Given the description of an element on the screen output the (x, y) to click on. 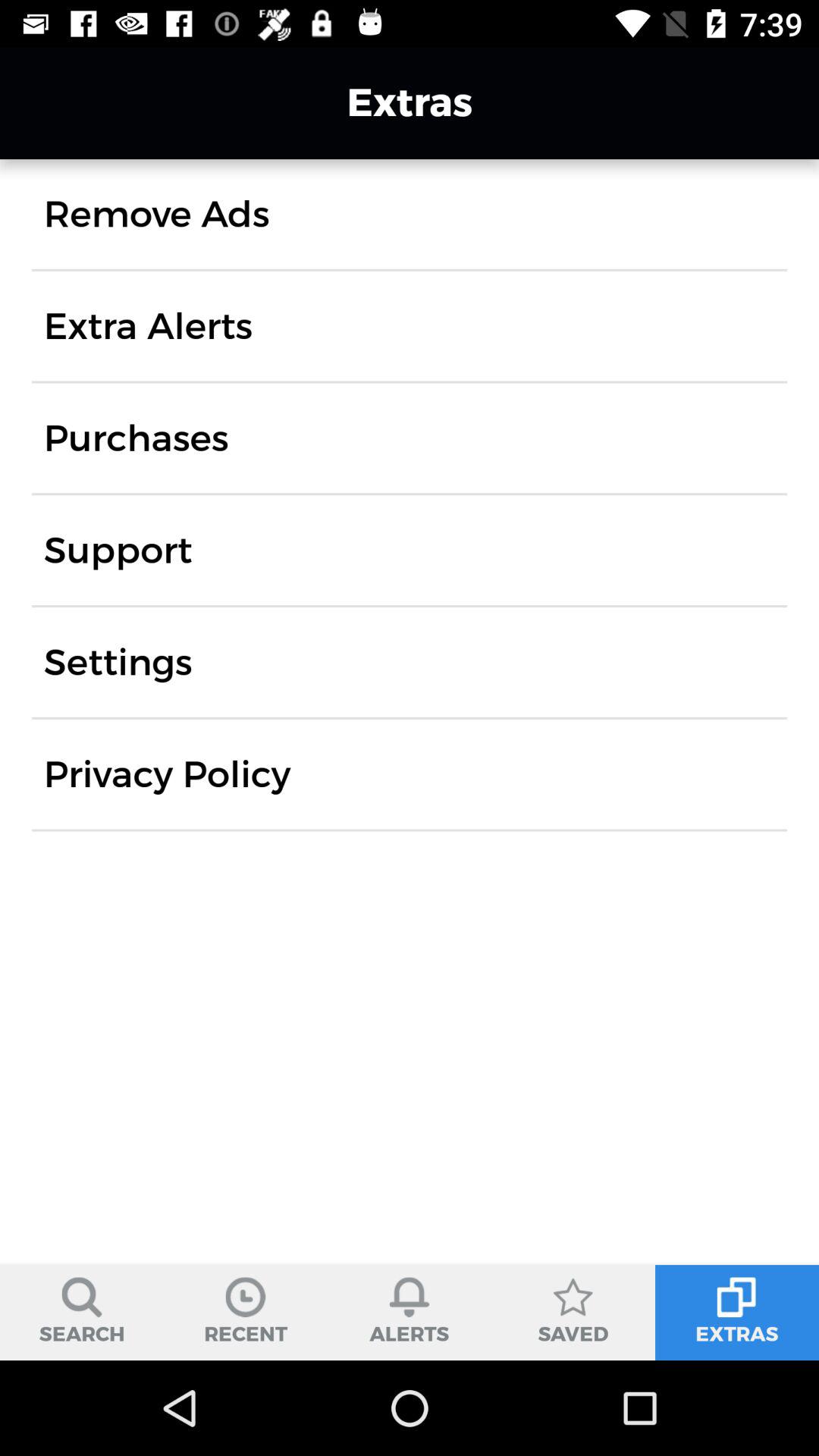
flip to the support (117, 550)
